Given the description of an element on the screen output the (x, y) to click on. 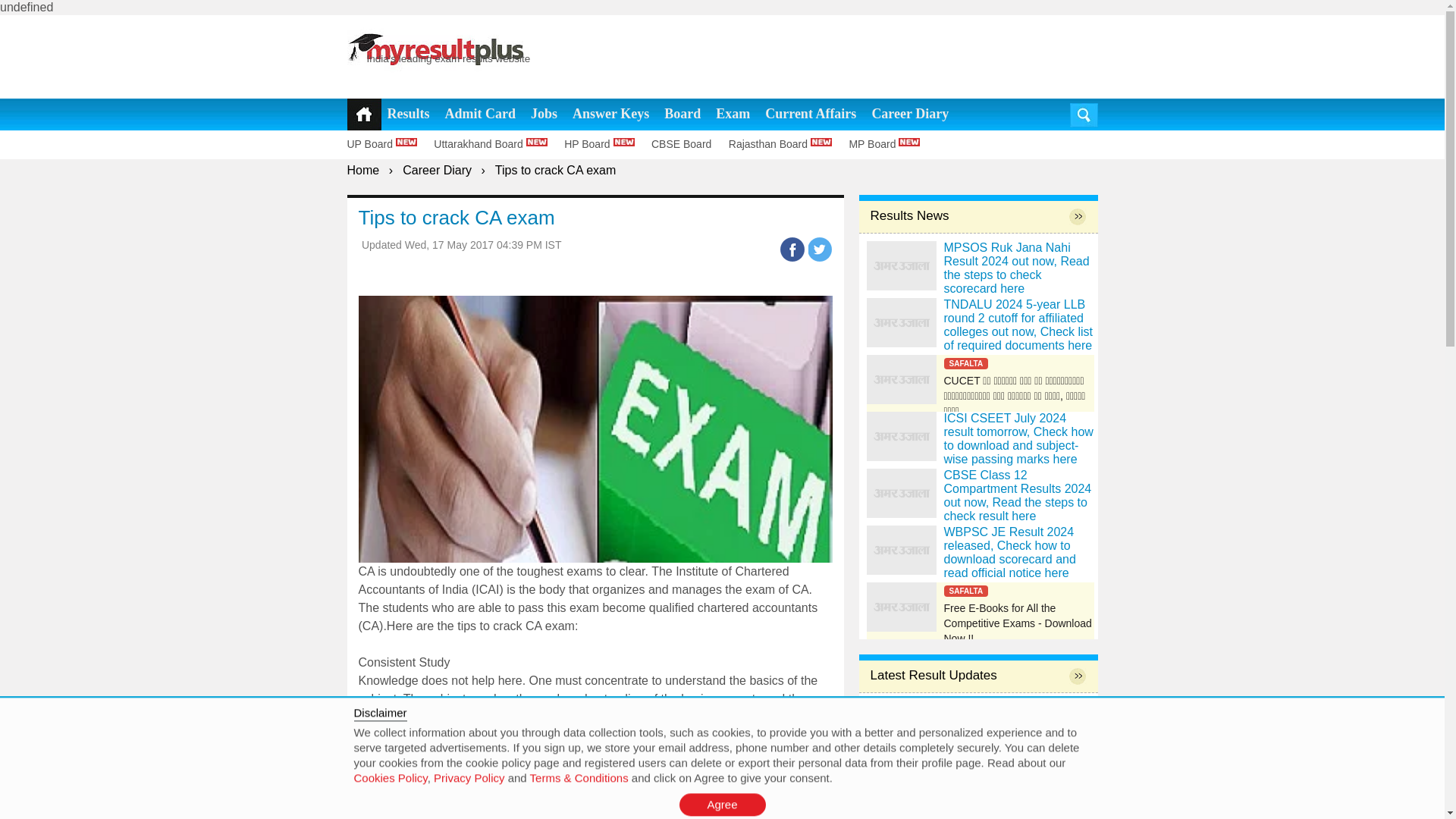
Current Affairs (809, 113)
HP Board (605, 143)
Answer Keys (610, 113)
UP Board (388, 143)
Free E-Books for All the Competitive Exams - Download Now !! (979, 606)
Career Diary (437, 170)
Admit Card (480, 113)
Uttarakhand Board (496, 143)
Rajasthan Board (787, 143)
